Given the description of an element on the screen output the (x, y) to click on. 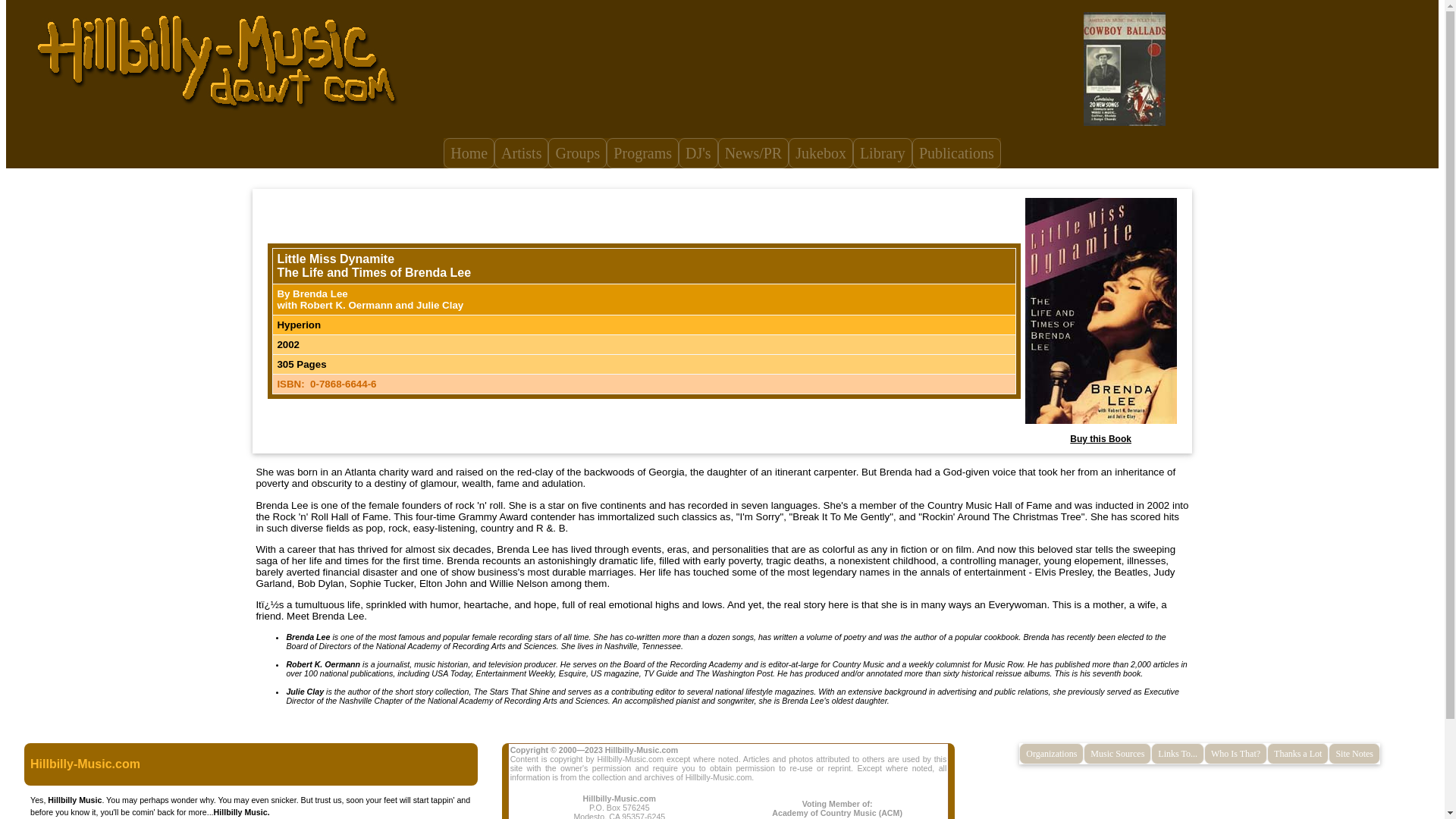
Music Sources (1117, 753)
Publications (956, 153)
Jukebox (821, 153)
Organizations (1051, 753)
Library (882, 153)
Programs (642, 153)
Artists (521, 153)
Groups (577, 153)
Buy this Book (1100, 439)
Home (469, 153)
